Given the description of an element on the screen output the (x, y) to click on. 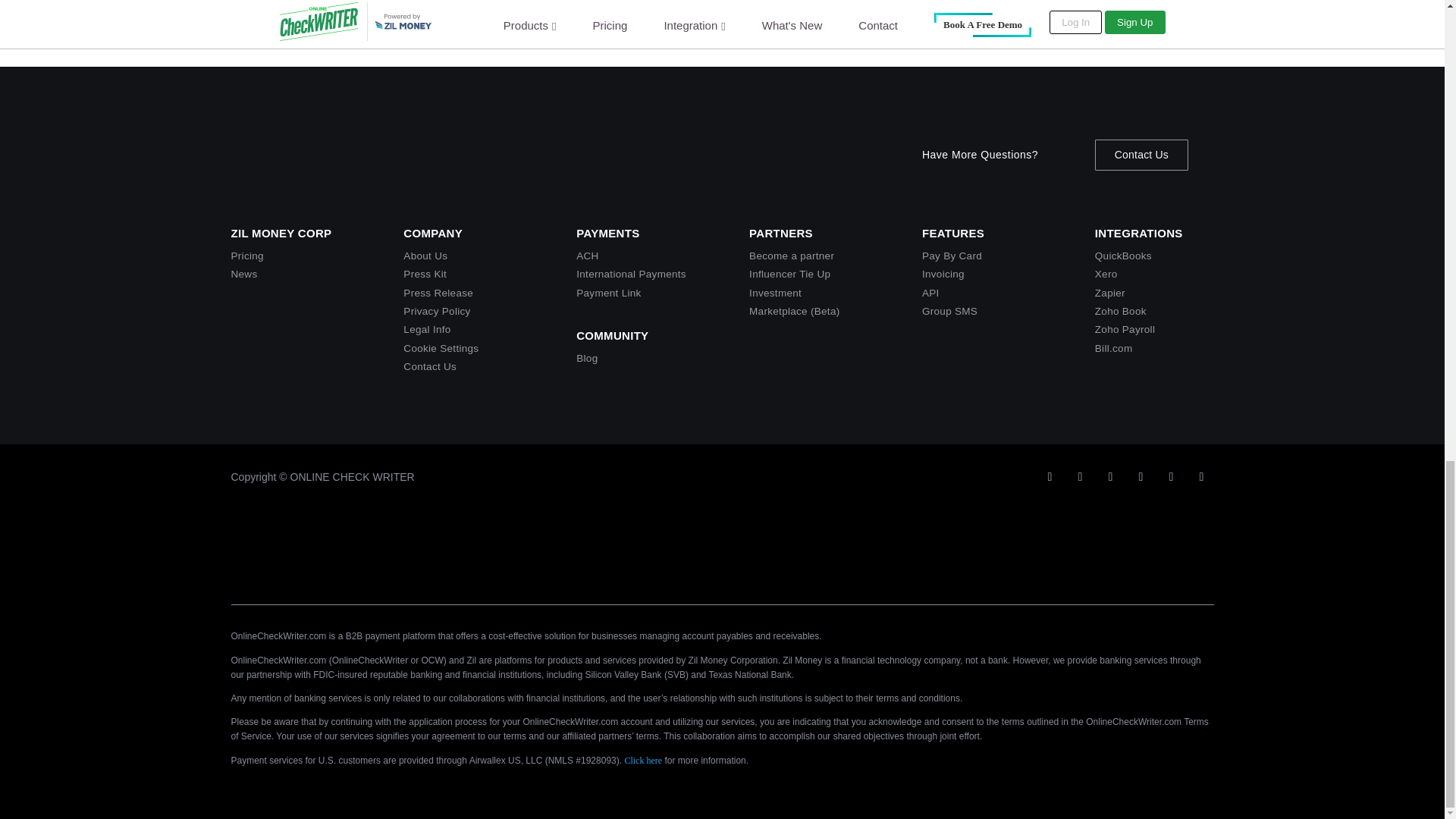
Follow on LinkedIn (1109, 476)
Follow on X (1048, 476)
Follow on Pinterest (1200, 476)
Follow on Facebook (1170, 476)
Follow on Youtube (1079, 476)
Follow on Instagram (1140, 476)
